Given the description of an element on the screen output the (x, y) to click on. 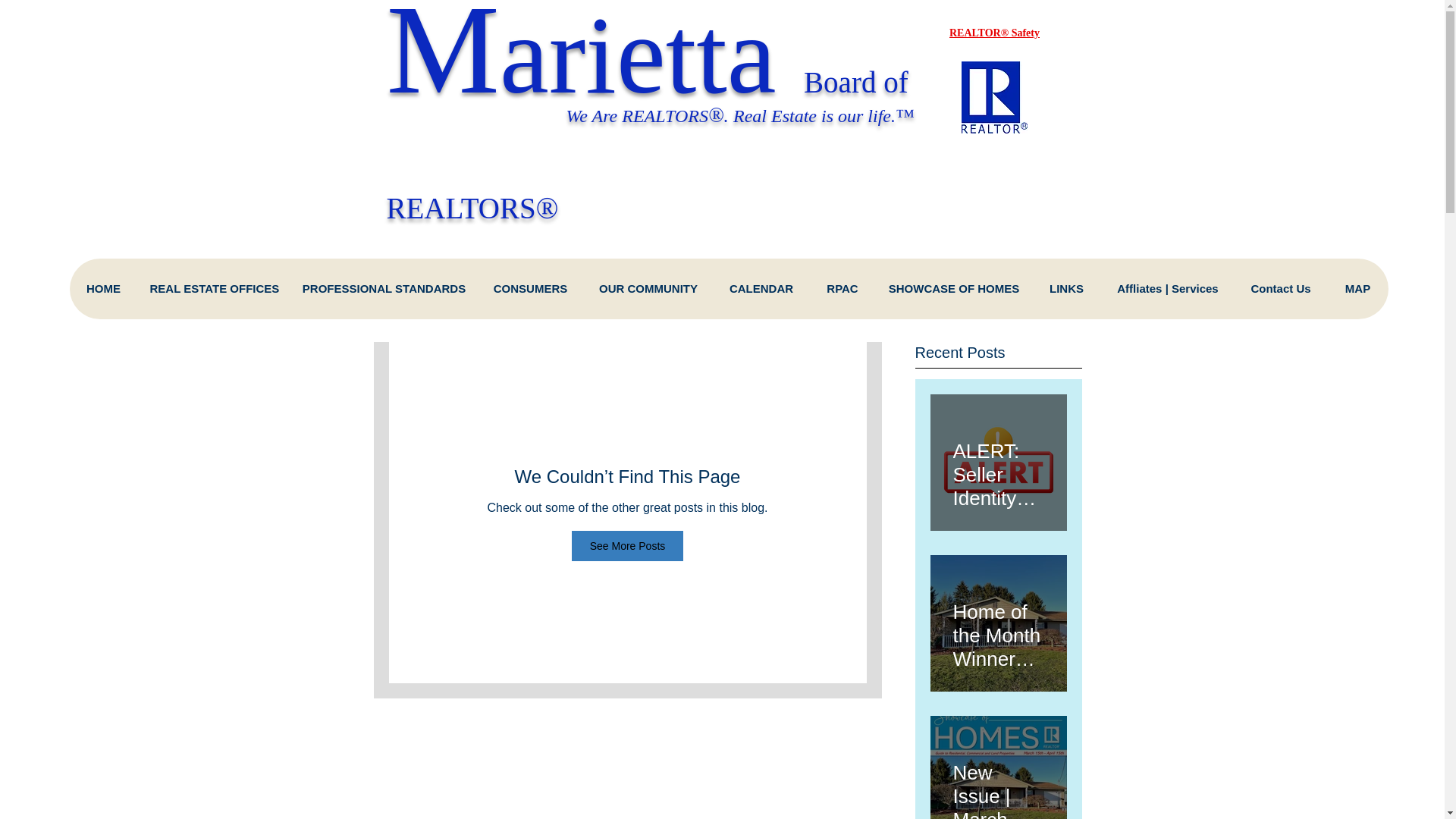
Home of the Month Winner is.... (997, 628)
M (443, 59)
See More Posts (628, 545)
ALERT: Seller Identity Fraud (997, 467)
arietta (651, 58)
